Given the description of an element on the screen output the (x, y) to click on. 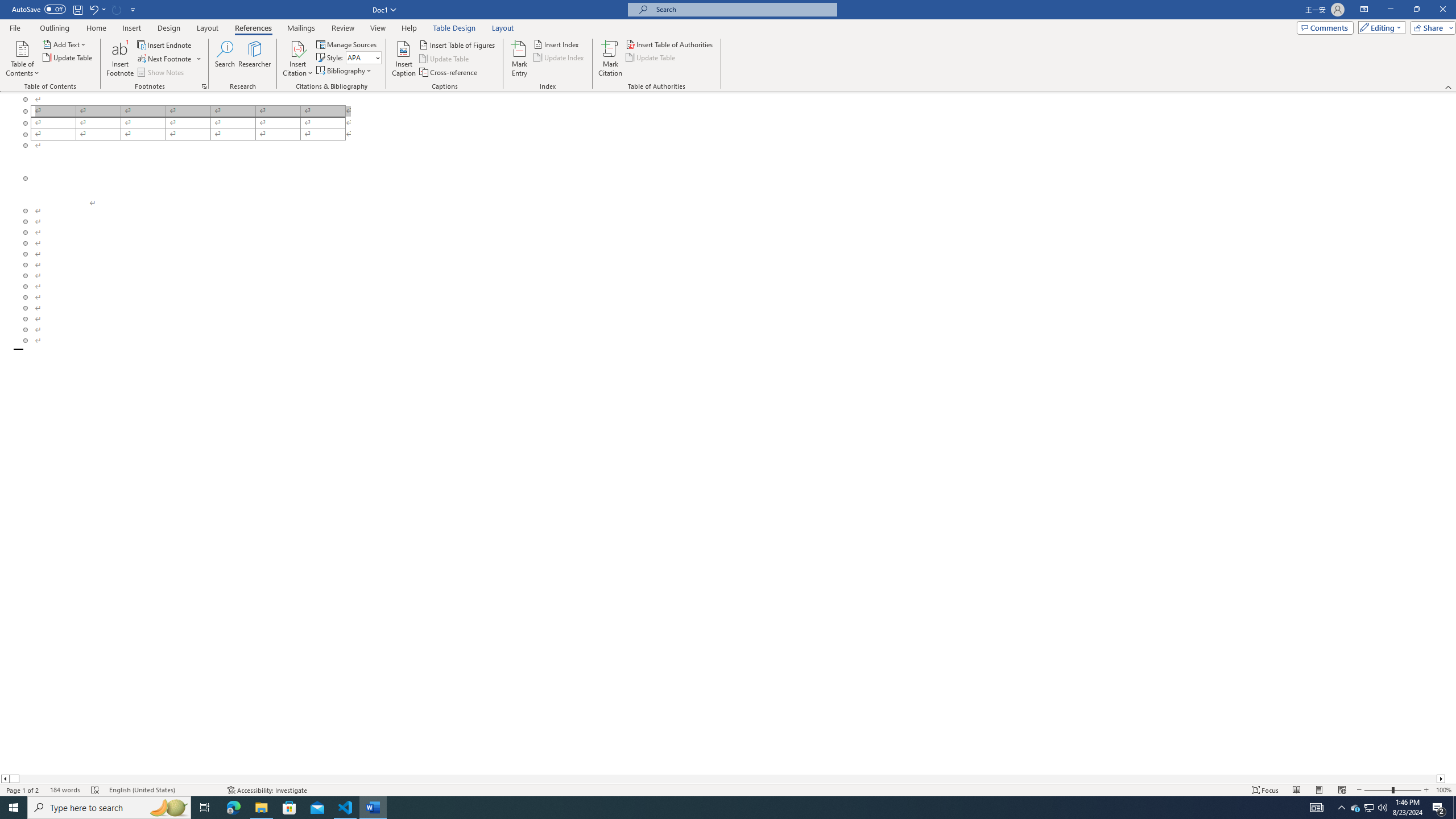
Insert Table of Figures... (458, 44)
Insert Caption... (403, 58)
Word Count 184 words (64, 790)
Update Table... (68, 56)
Table of Contents (22, 58)
Insert Index... (556, 44)
Researcher (254, 58)
